Given the description of an element on the screen output the (x, y) to click on. 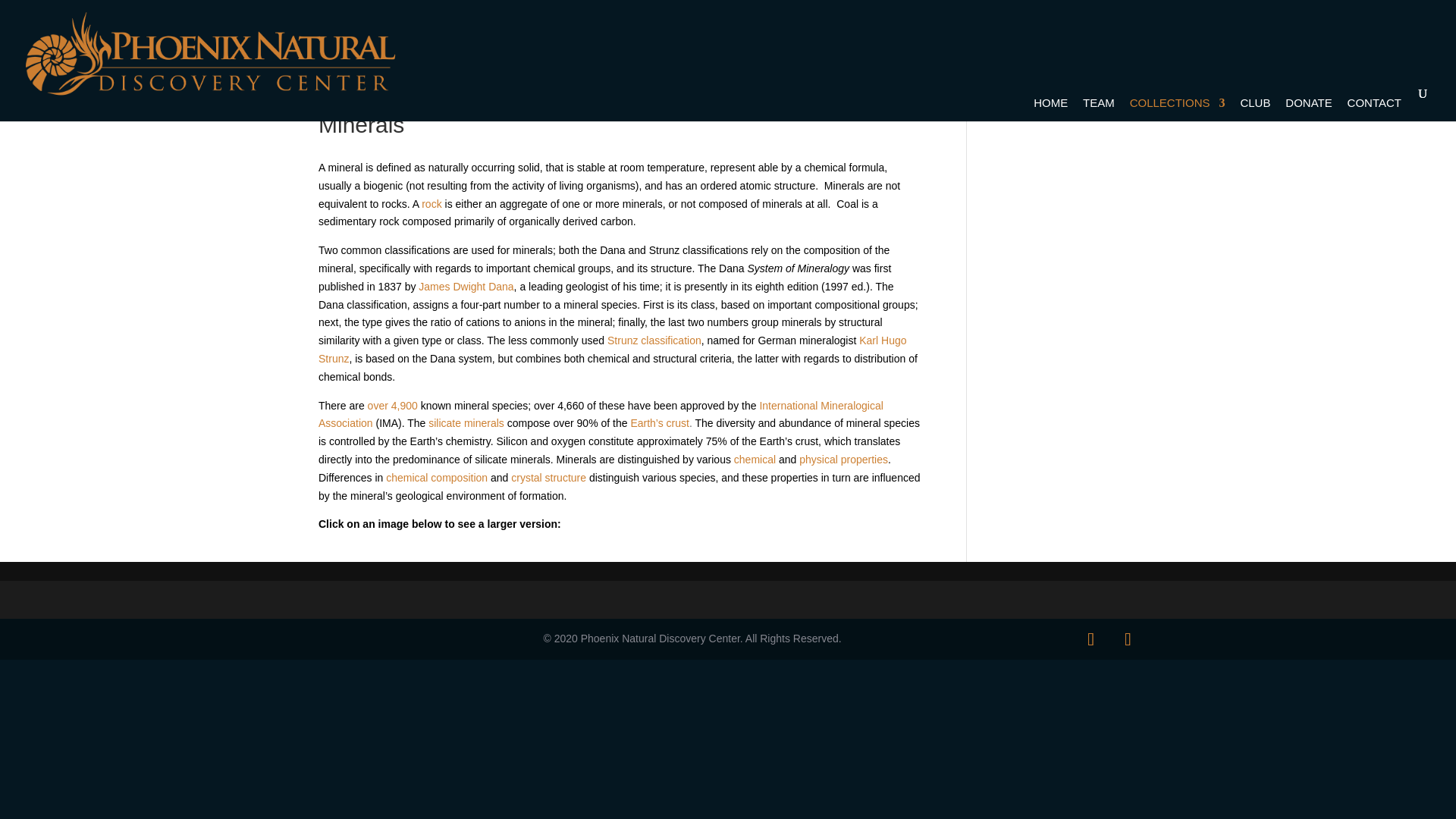
Strunz classification (654, 340)
HOME (1050, 106)
over 4,900 (392, 405)
James Dwight Dana (466, 286)
CLUB (1254, 106)
TEAM (1099, 106)
chemical (754, 459)
chemical composition (436, 477)
physical properties (843, 459)
silicate minerals (465, 422)
